Given the description of an element on the screen output the (x, y) to click on. 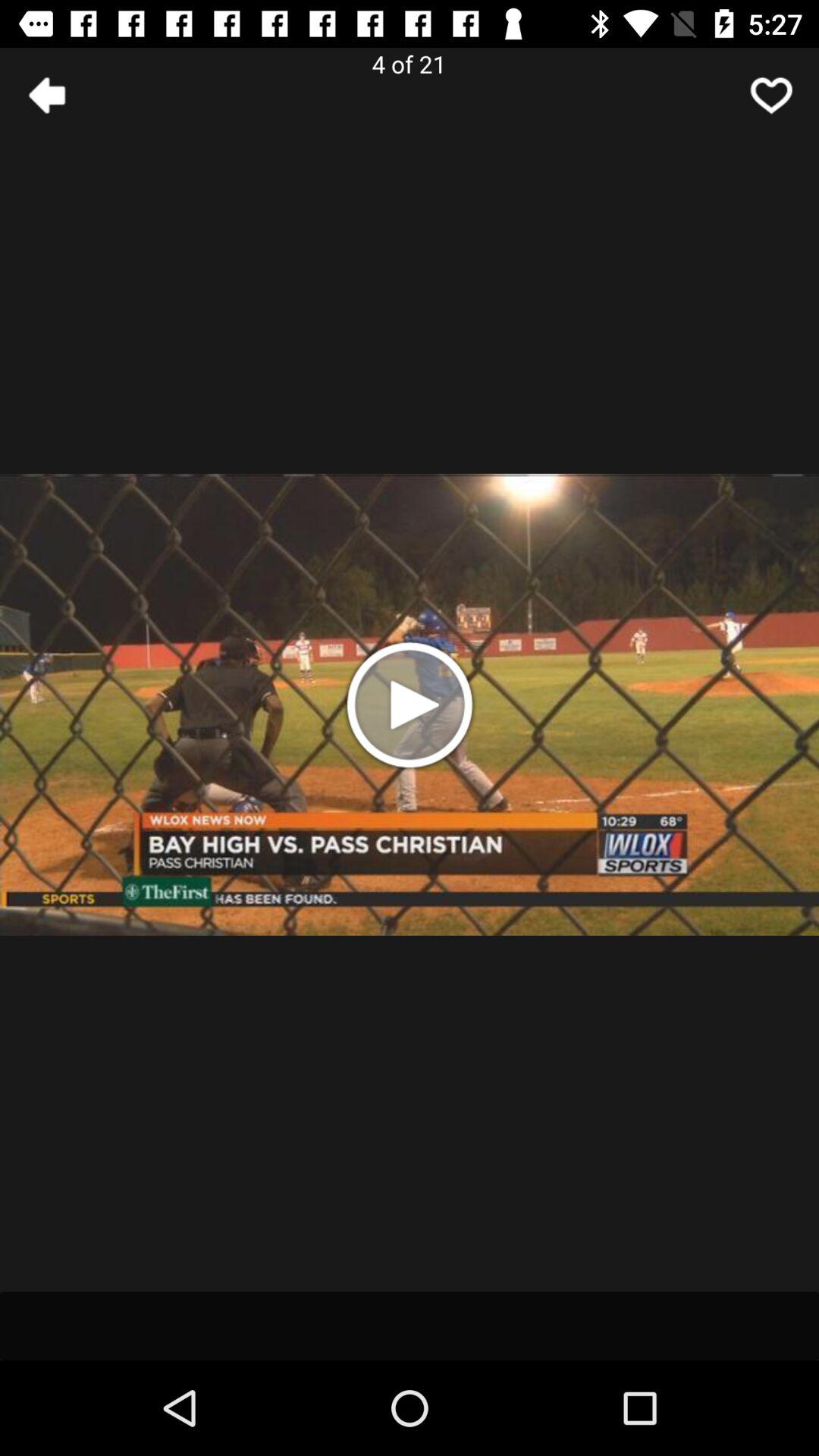
set as best (771, 95)
